Given the description of an element on the screen output the (x, y) to click on. 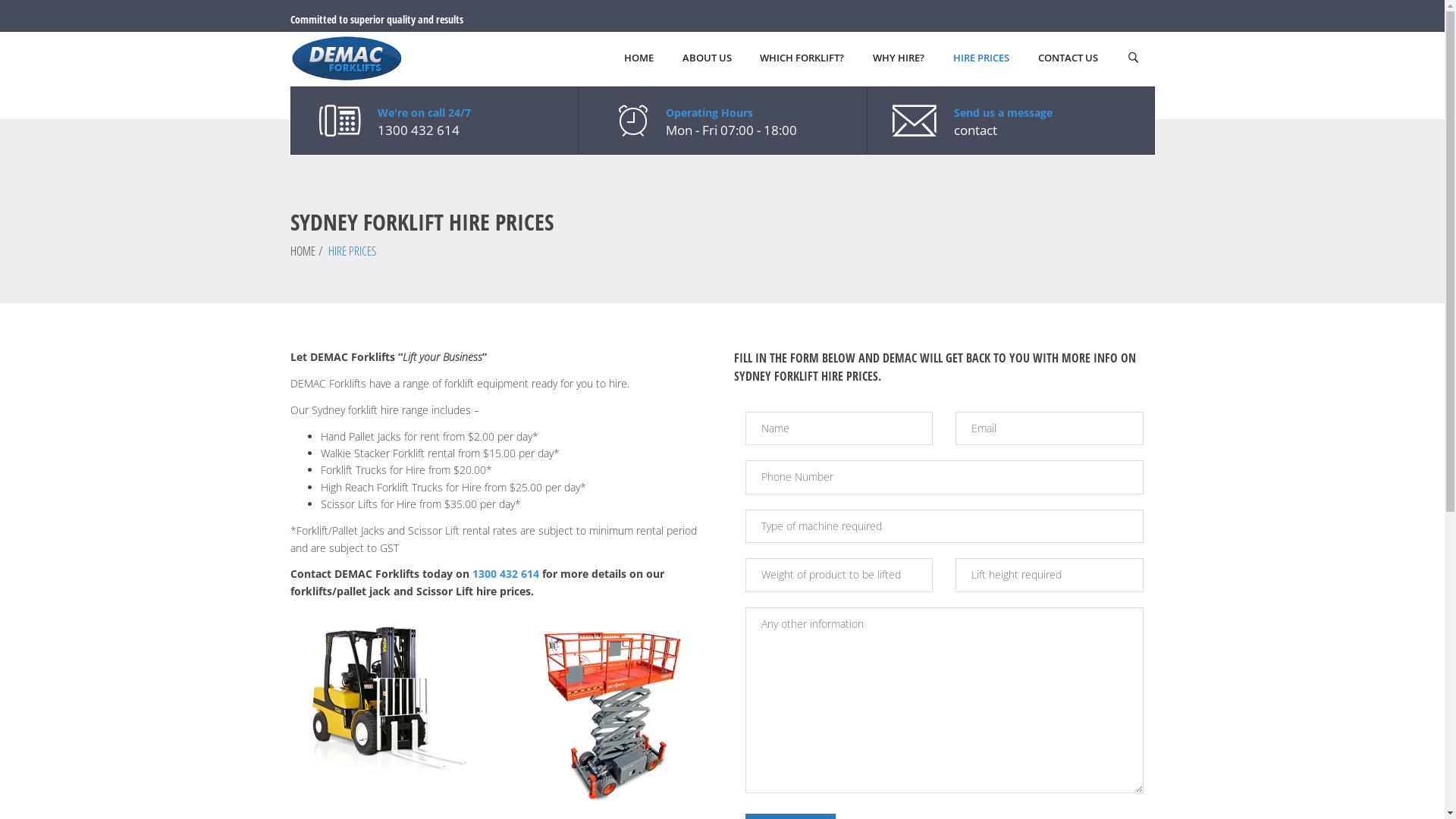
1300 432 614 Element type: text (504, 573)
contact Element type: text (975, 129)
HOME Element type: text (638, 58)
ABOUT US Element type: text (707, 58)
WHY HIRE? Element type: text (898, 58)
HOME Element type: text (301, 250)
1300 432 614 Element type: text (418, 129)
CONTACT US Element type: text (1067, 58)
WHICH FORKLIFT? Element type: text (801, 58)
HIRE PRICES Element type: text (980, 58)
